Given the description of an element on the screen output the (x, y) to click on. 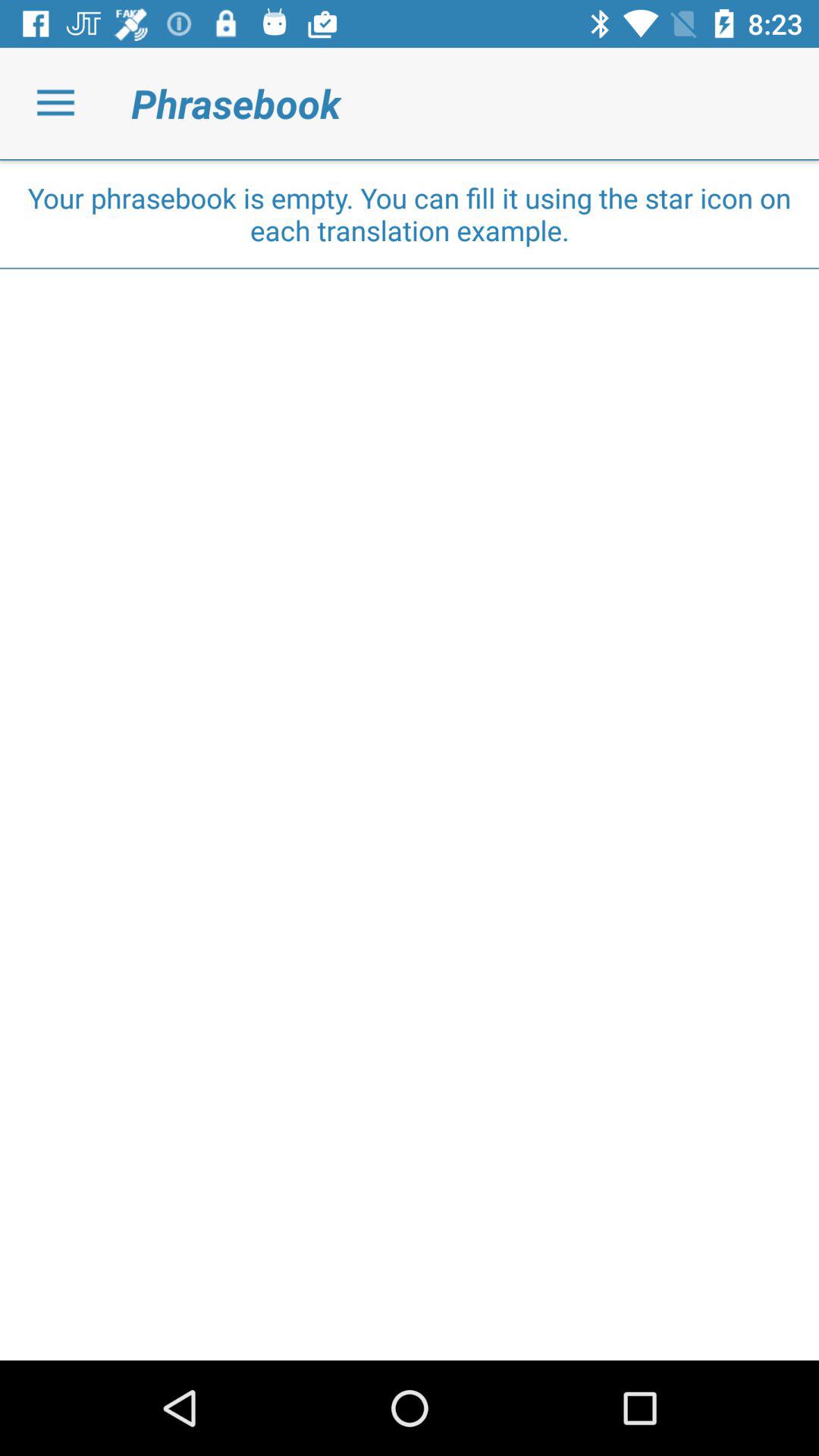
click icon to the left of the phrasebook item (55, 103)
